Given the description of an element on the screen output the (x, y) to click on. 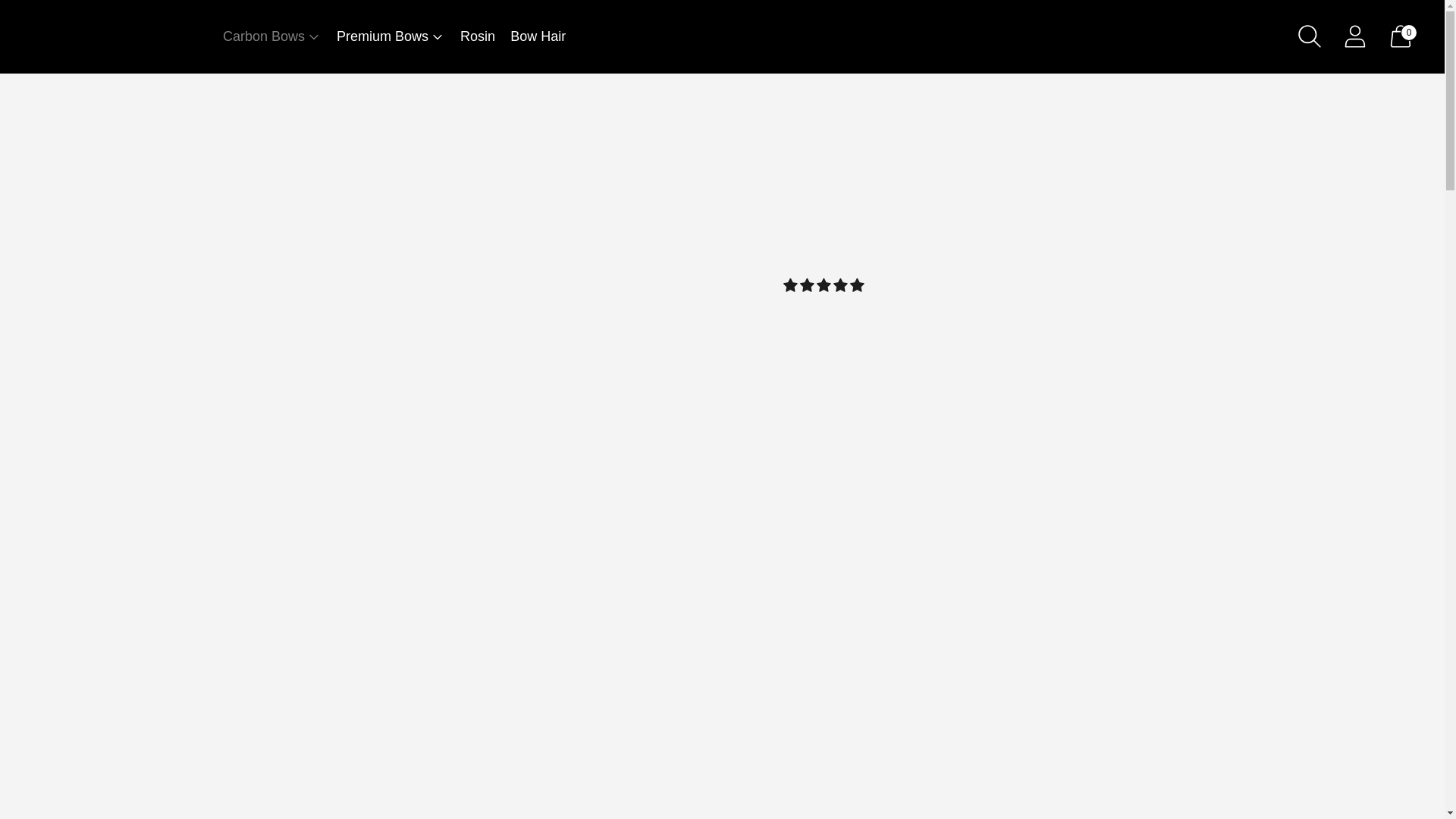
Carbon Bows (271, 36)
Rosin (477, 36)
0 (1400, 36)
Bow Hair (538, 36)
Premium Bows (390, 36)
